Given the description of an element on the screen output the (x, y) to click on. 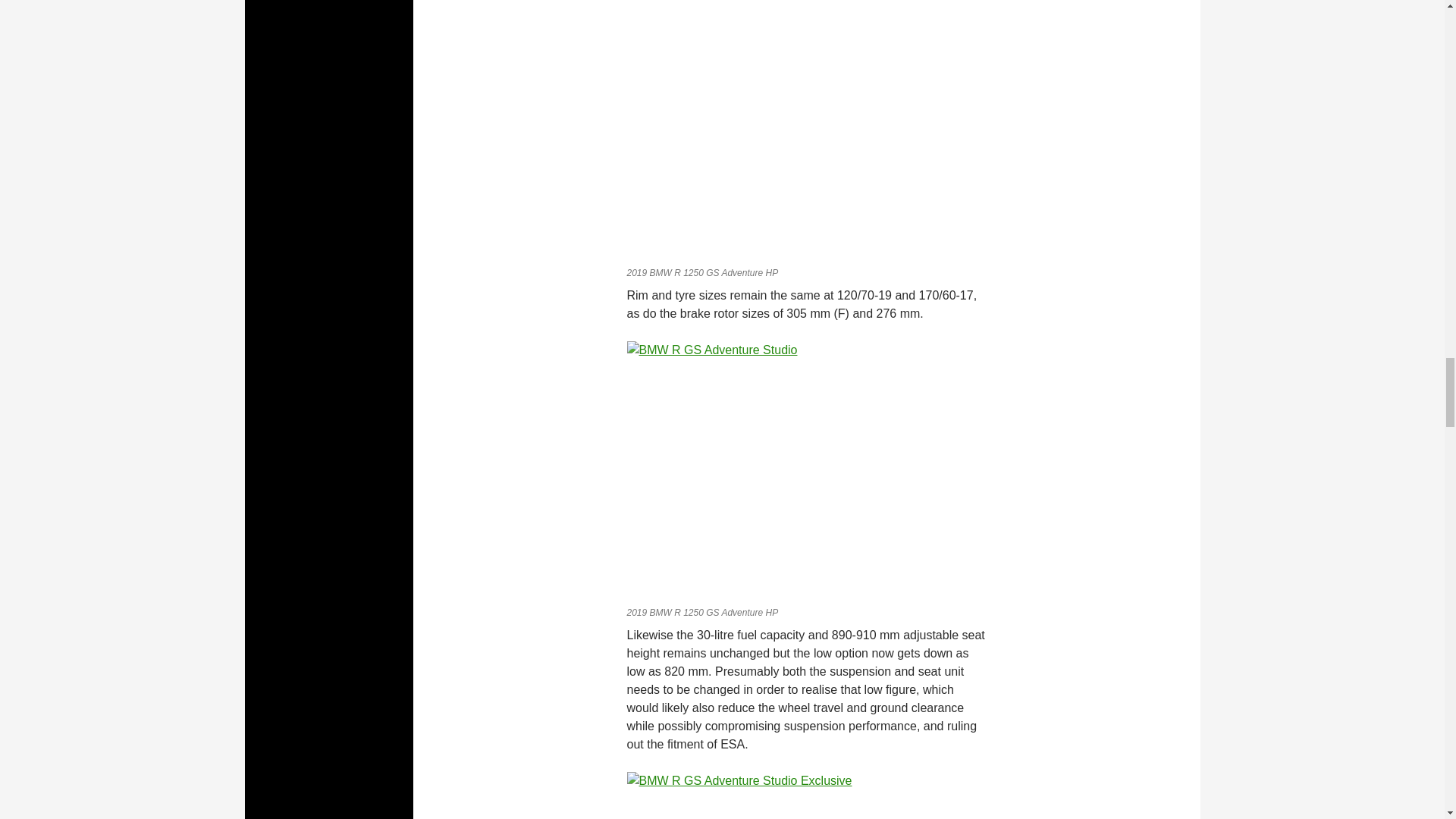
BMW R GS Adventure Studio (805, 469)
BMW R GS Adventure Studio Exclusive (805, 795)
BMW R GS Adventure Studio (805, 129)
